Given the description of an element on the screen output the (x, y) to click on. 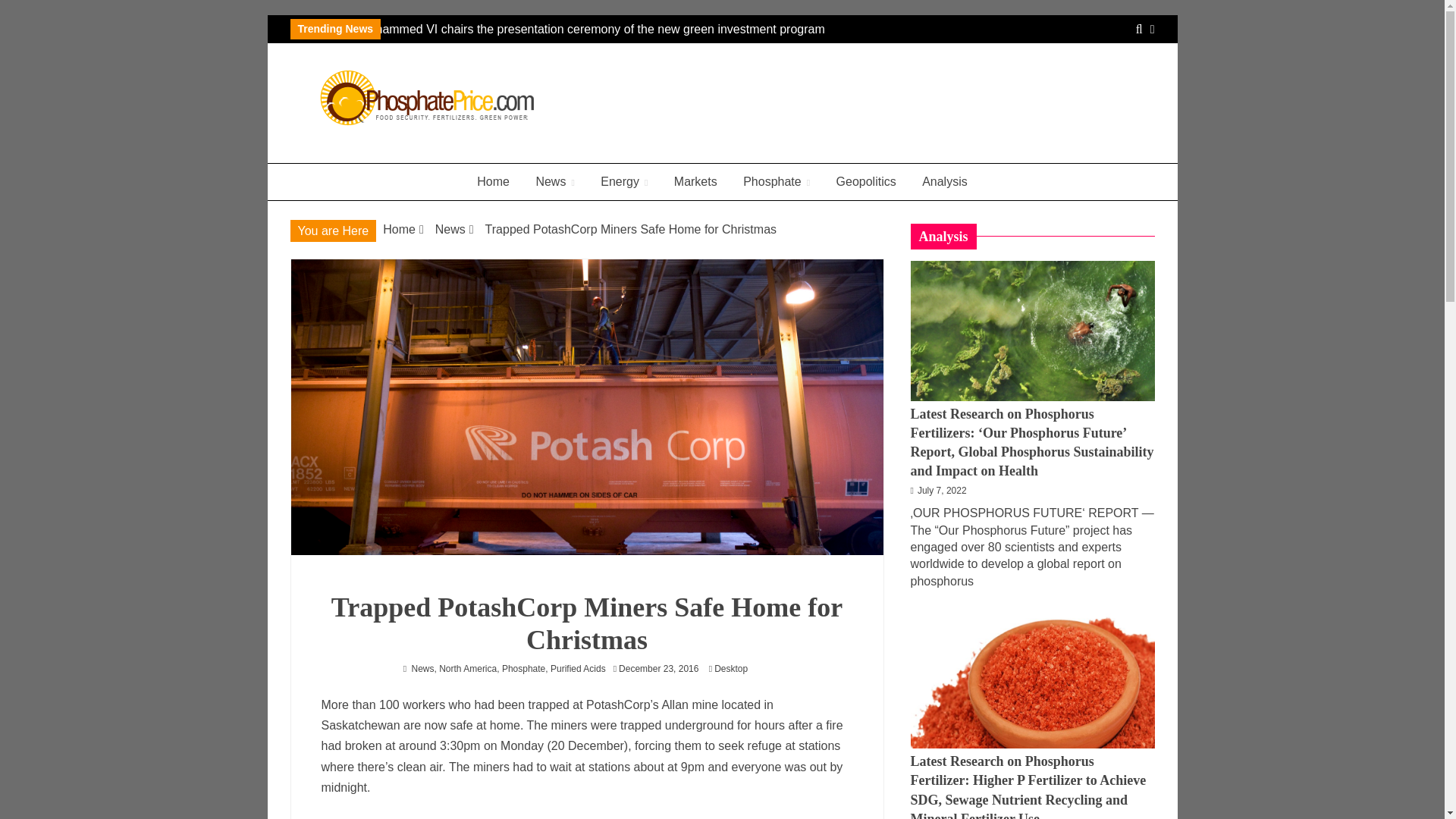
News (554, 181)
Energy (624, 181)
Phosphate (776, 181)
Markets (695, 181)
Phosphate Price (406, 156)
Home (493, 181)
